Given the description of an element on the screen output the (x, y) to click on. 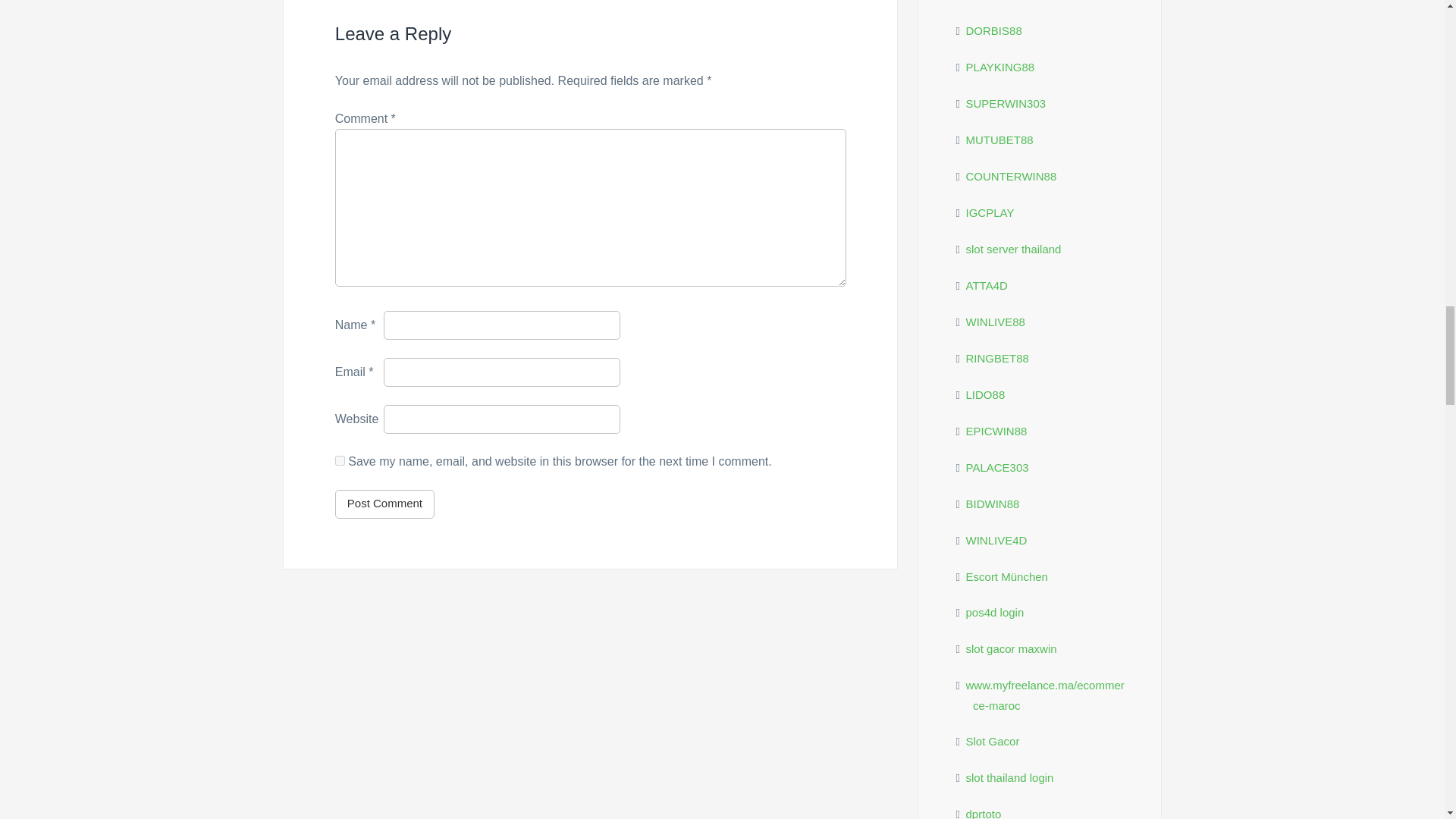
yes (339, 460)
Post Comment (383, 503)
Post Comment (383, 503)
